Given the description of an element on the screen output the (x, y) to click on. 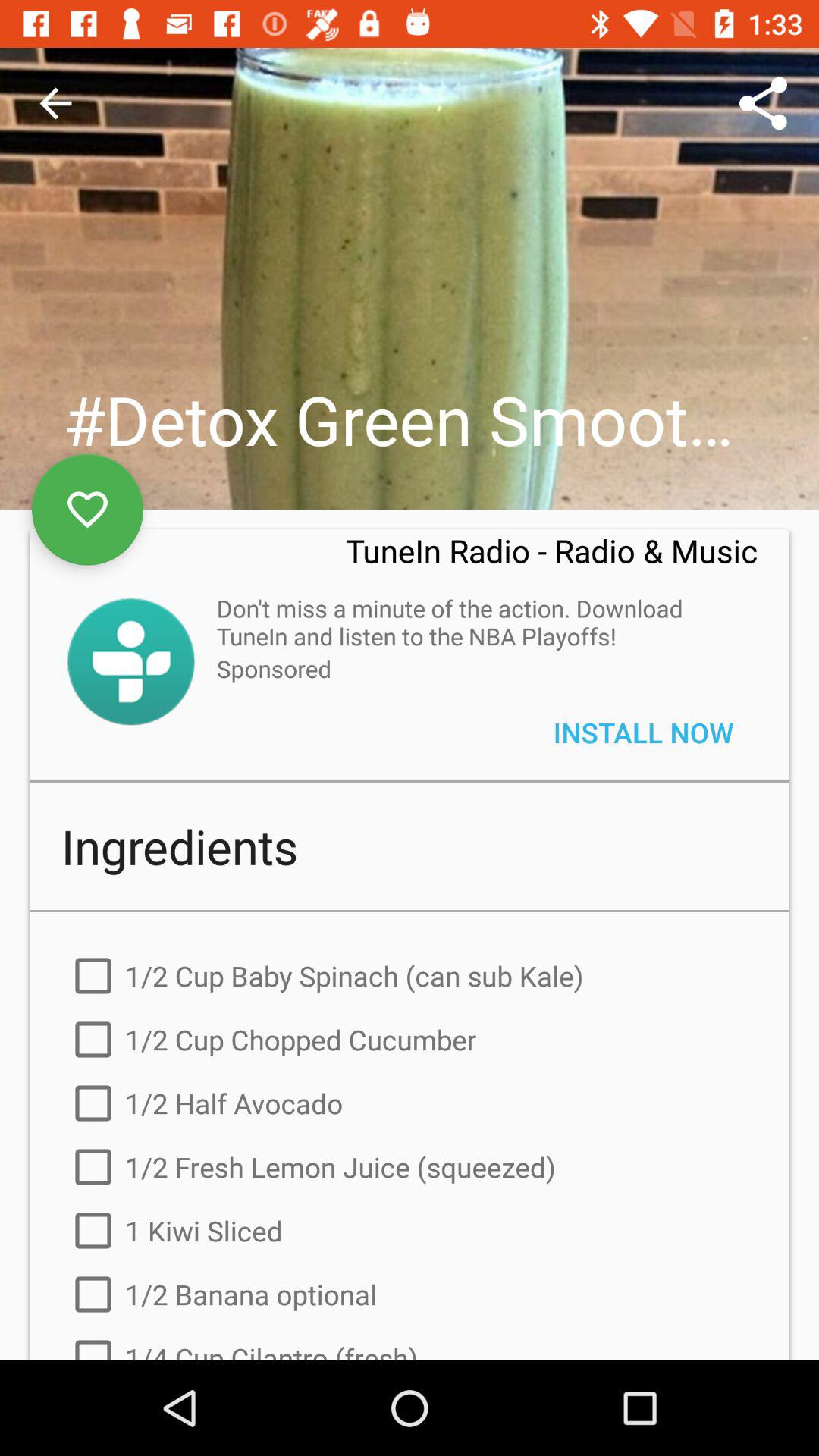
select the item next to don t miss icon (130, 661)
